Given the description of an element on the screen output the (x, y) to click on. 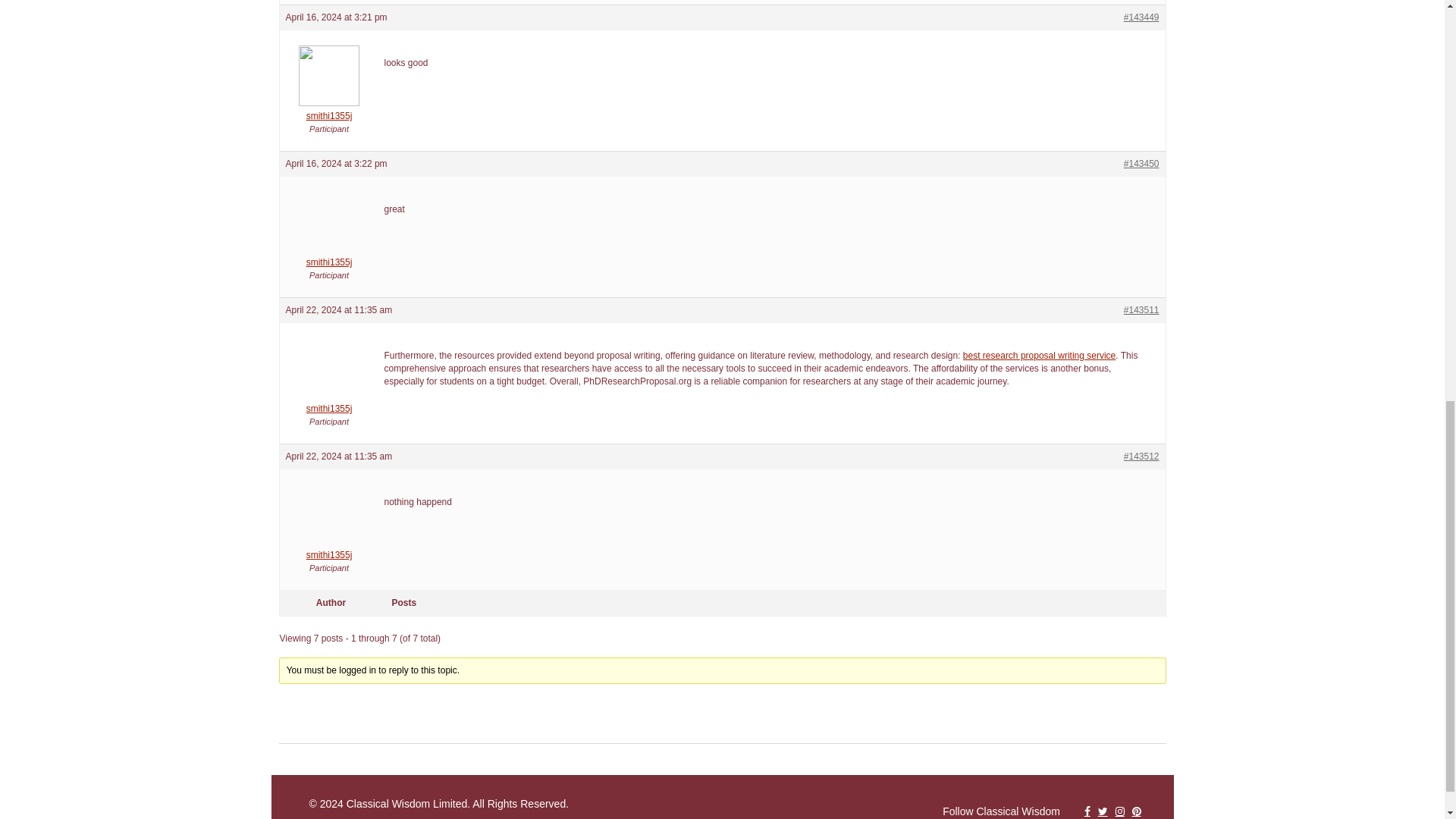
View smithi1355j's profile (328, 549)
View smithi1355j's profile (328, 256)
View smithi1355j's profile (328, 402)
View smithi1355j's profile (328, 109)
